Given the description of an element on the screen output the (x, y) to click on. 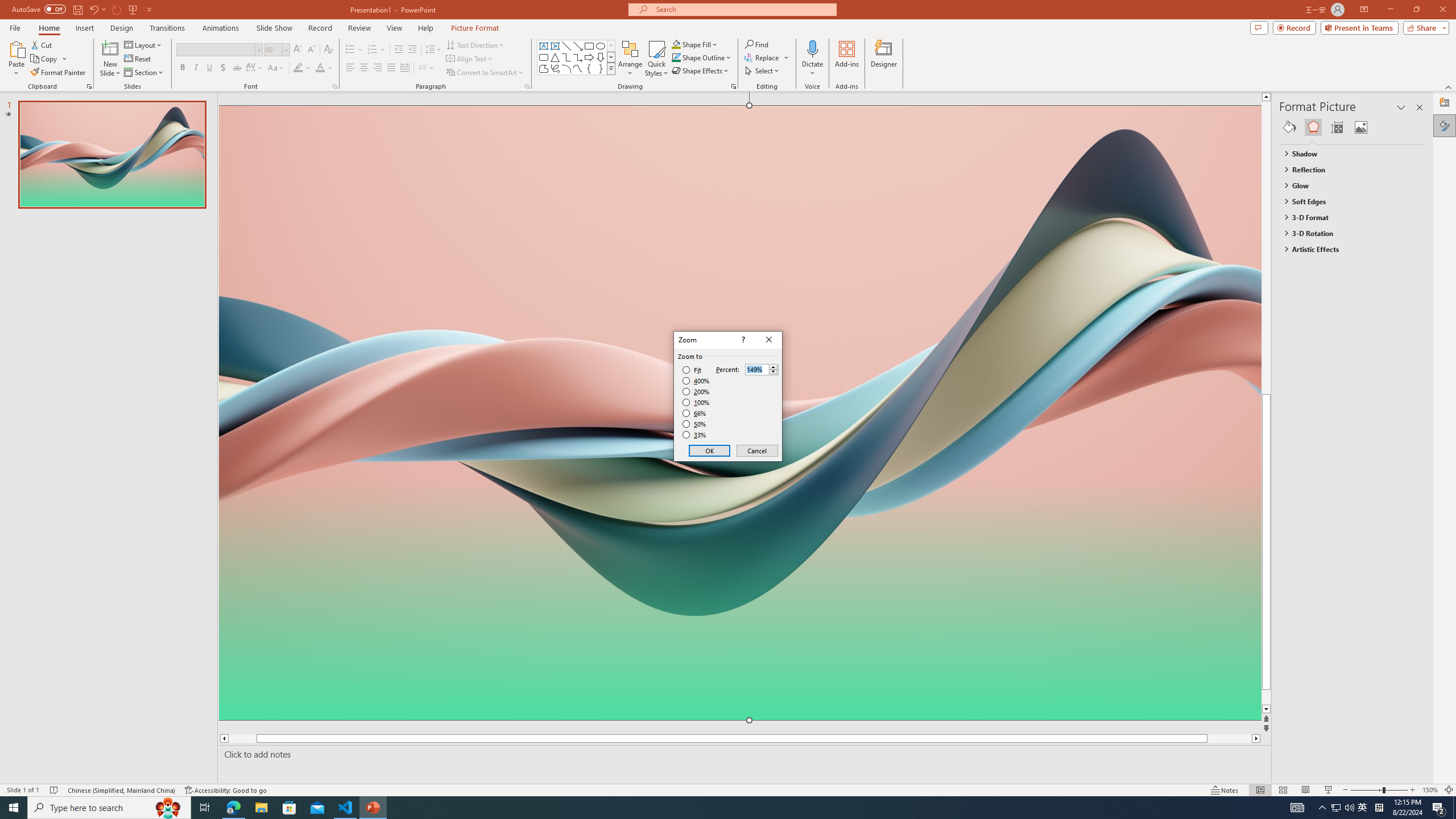
Soft Edges (1347, 201)
